Given the description of an element on the screen output the (x, y) to click on. 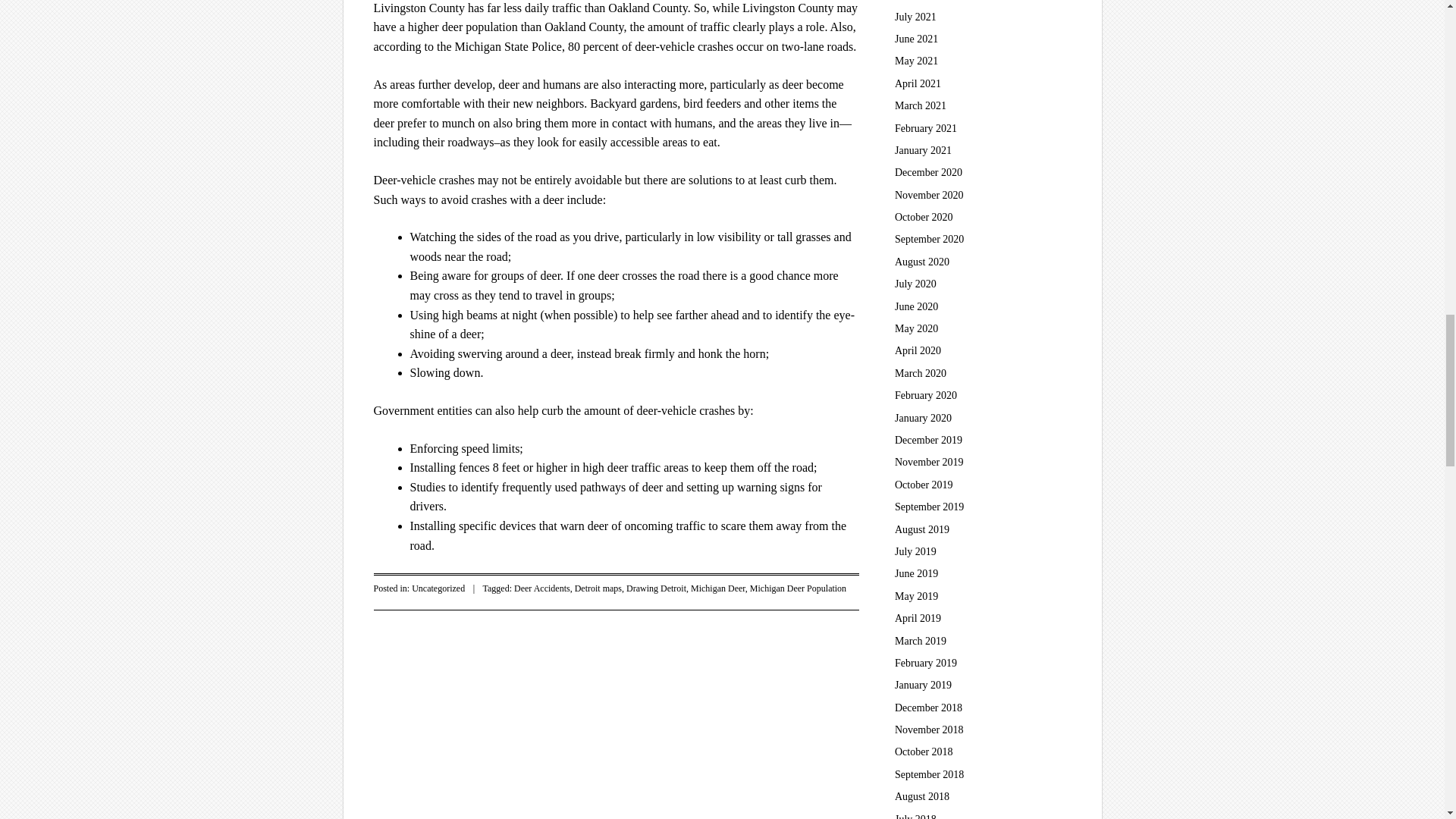
Uncategorized (438, 588)
Michigan Deer (717, 588)
Detroit maps (598, 588)
Deer Accidents (541, 588)
Drawing Detroit (655, 588)
Michigan Deer Population (797, 588)
